Given the description of an element on the screen output the (x, y) to click on. 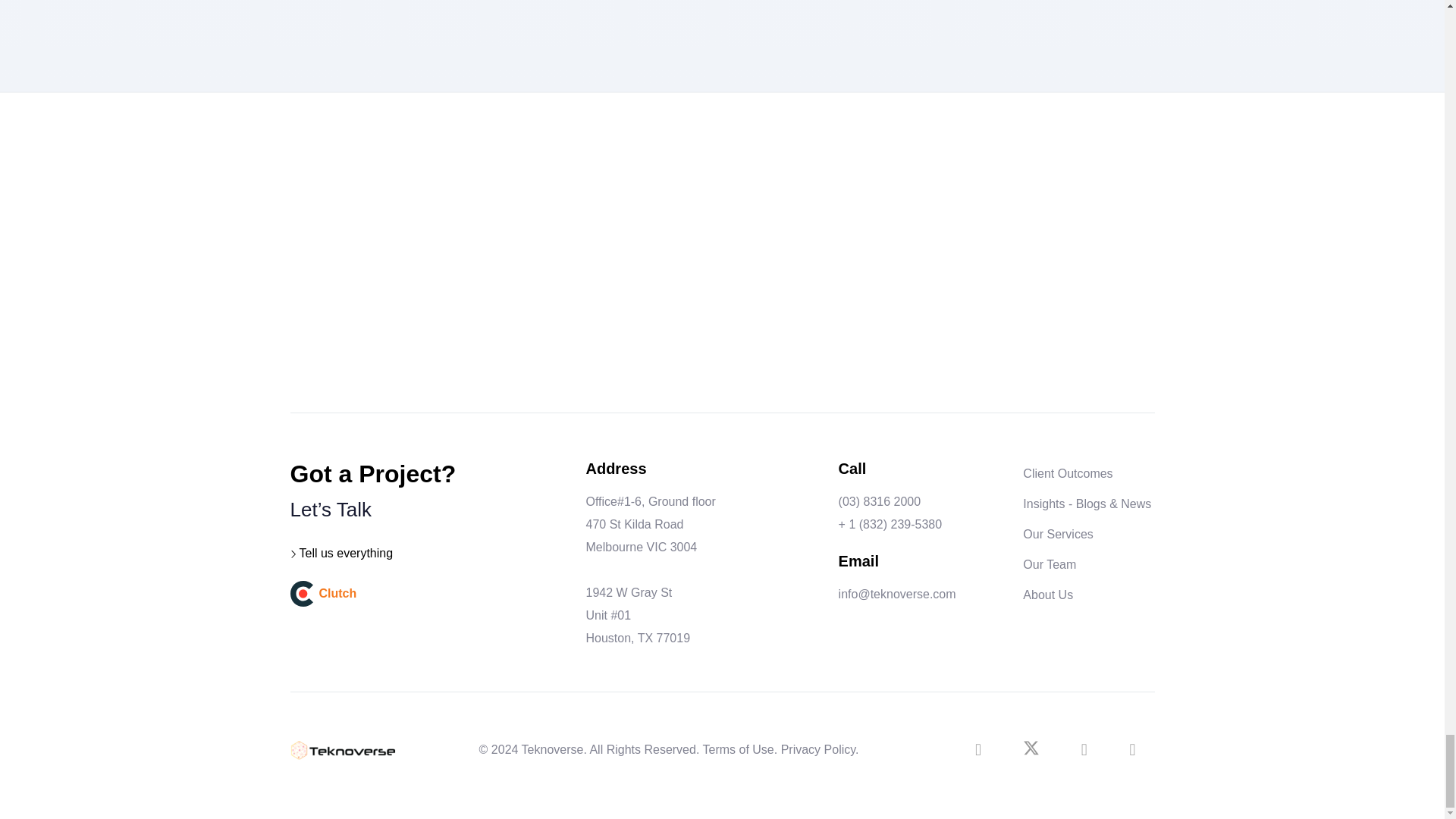
Our Services (1058, 533)
Client Outcomes (1067, 472)
tell us everything (345, 553)
Clutch (425, 593)
Our Team (1049, 563)
Client Outcomes (1067, 472)
About Us (1048, 594)
